Given the description of an element on the screen output the (x, y) to click on. 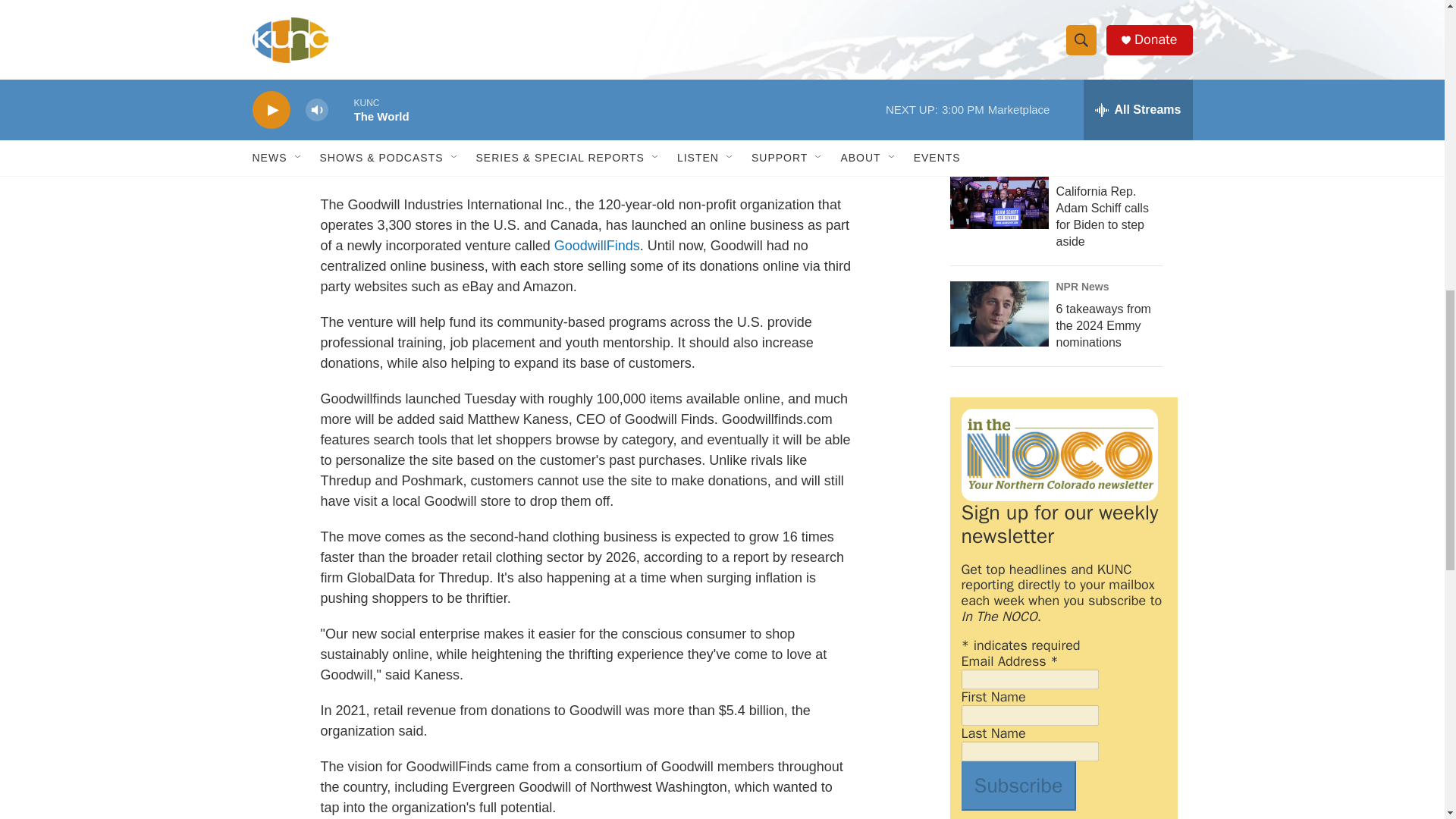
Subscribe (1017, 785)
